Given the description of an element on the screen output the (x, y) to click on. 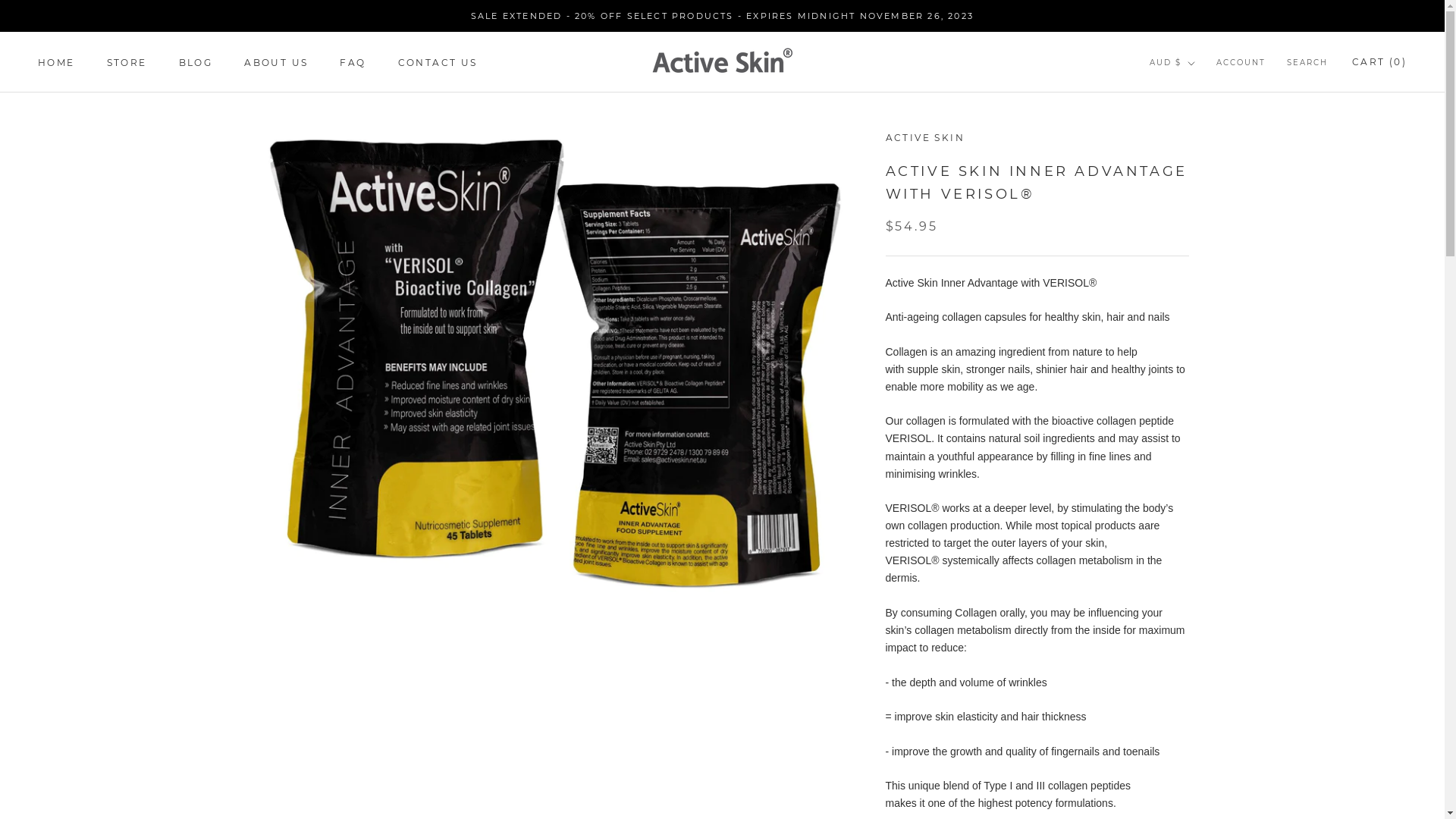
CAD Element type: text (1198, 456)
AED Element type: text (1198, 94)
ACTIVE SKIN Element type: text (924, 137)
BND Element type: text (1198, 355)
ETB Element type: text (1198, 697)
GMD Element type: text (1198, 797)
AZN Element type: text (1198, 235)
CART (0) Element type: text (1379, 61)
BDT Element type: text (1198, 295)
BAM Element type: text (1198, 255)
CDF Element type: text (1198, 476)
AFN Element type: text (1198, 114)
DKK Element type: text (1198, 617)
BIF Element type: text (1198, 336)
FKP Element type: text (1198, 757)
CONTACT US
CONTACT US Element type: text (437, 62)
CRC Element type: text (1198, 537)
CZK Element type: text (1198, 577)
ALL Element type: text (1198, 135)
BSD Element type: text (1198, 395)
AUD $ Element type: text (1172, 63)
DOP Element type: text (1198, 637)
AMD Element type: text (1198, 154)
BBD Element type: text (1198, 275)
STORE
STORE Element type: text (126, 62)
ANG Element type: text (1198, 175)
BGN Element type: text (1198, 315)
AWG Element type: text (1198, 215)
SEARCH Element type: text (1306, 62)
DZD Element type: text (1198, 657)
CNY Element type: text (1198, 516)
EUR Element type: text (1198, 717)
FAQ
FAQ Element type: text (352, 62)
BWP Element type: text (1198, 416)
HOME
HOME Element type: text (56, 62)
EGP Element type: text (1198, 677)
FJD Element type: text (1198, 738)
AUD Element type: text (1198, 195)
BZD Element type: text (1198, 436)
CHF Element type: text (1198, 496)
ACCOUNT Element type: text (1240, 62)
BOB Element type: text (1198, 376)
DJF Element type: text (1198, 596)
ABOUT US
ABOUT US Element type: text (275, 62)
GBP Element type: text (1198, 778)
BLOG
BLOG Element type: text (195, 62)
CVE Element type: text (1198, 556)
